Given the description of an element on the screen output the (x, y) to click on. 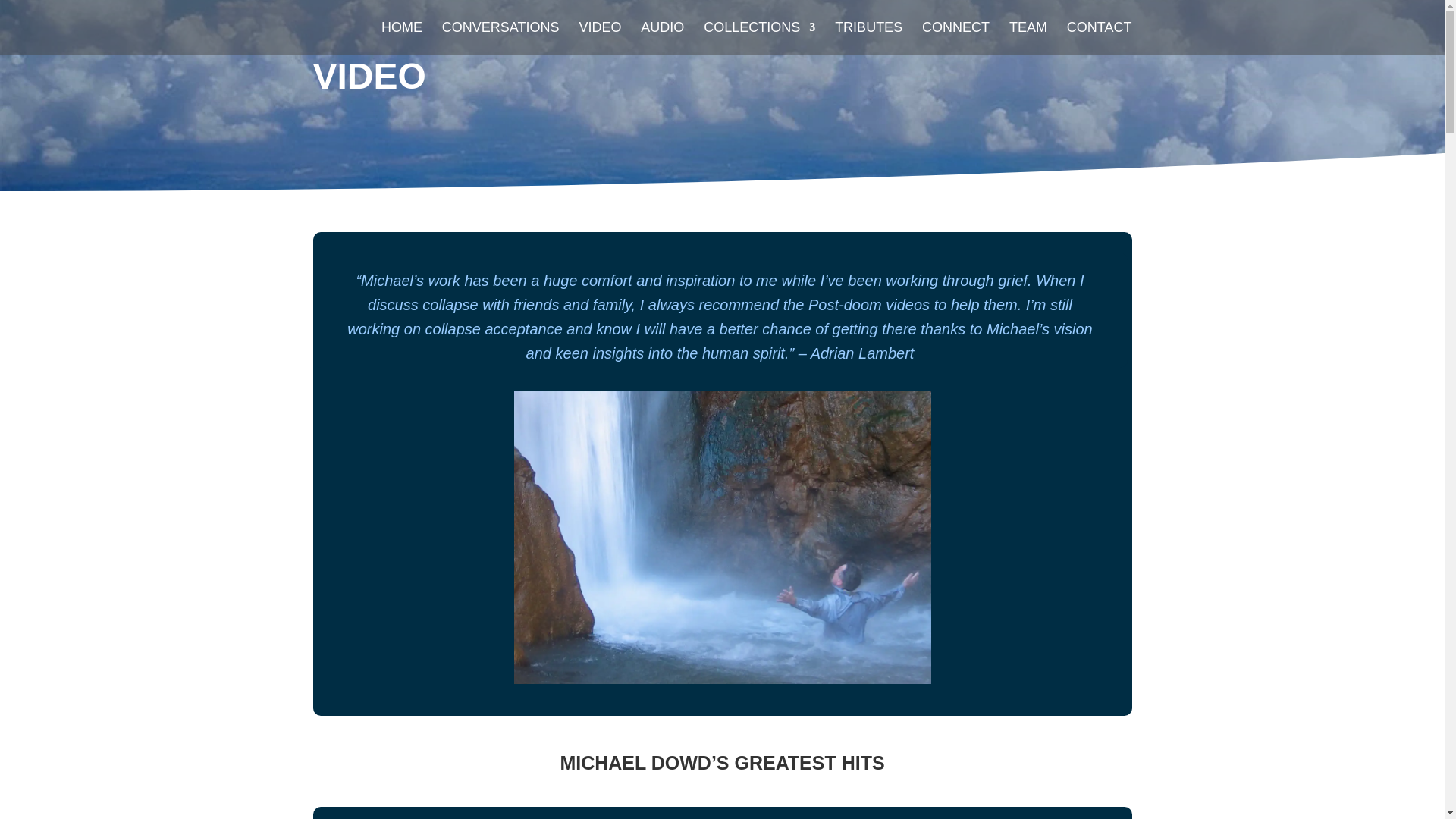
COLLECTIONS (759, 38)
VIDEO (599, 38)
CONVERSATIONS (500, 38)
AUDIO (662, 38)
TEAM (1027, 38)
CONNECT (955, 38)
HOME (401, 38)
TRIBUTES (868, 38)
CONTACT (1099, 38)
